Given the description of an element on the screen output the (x, y) to click on. 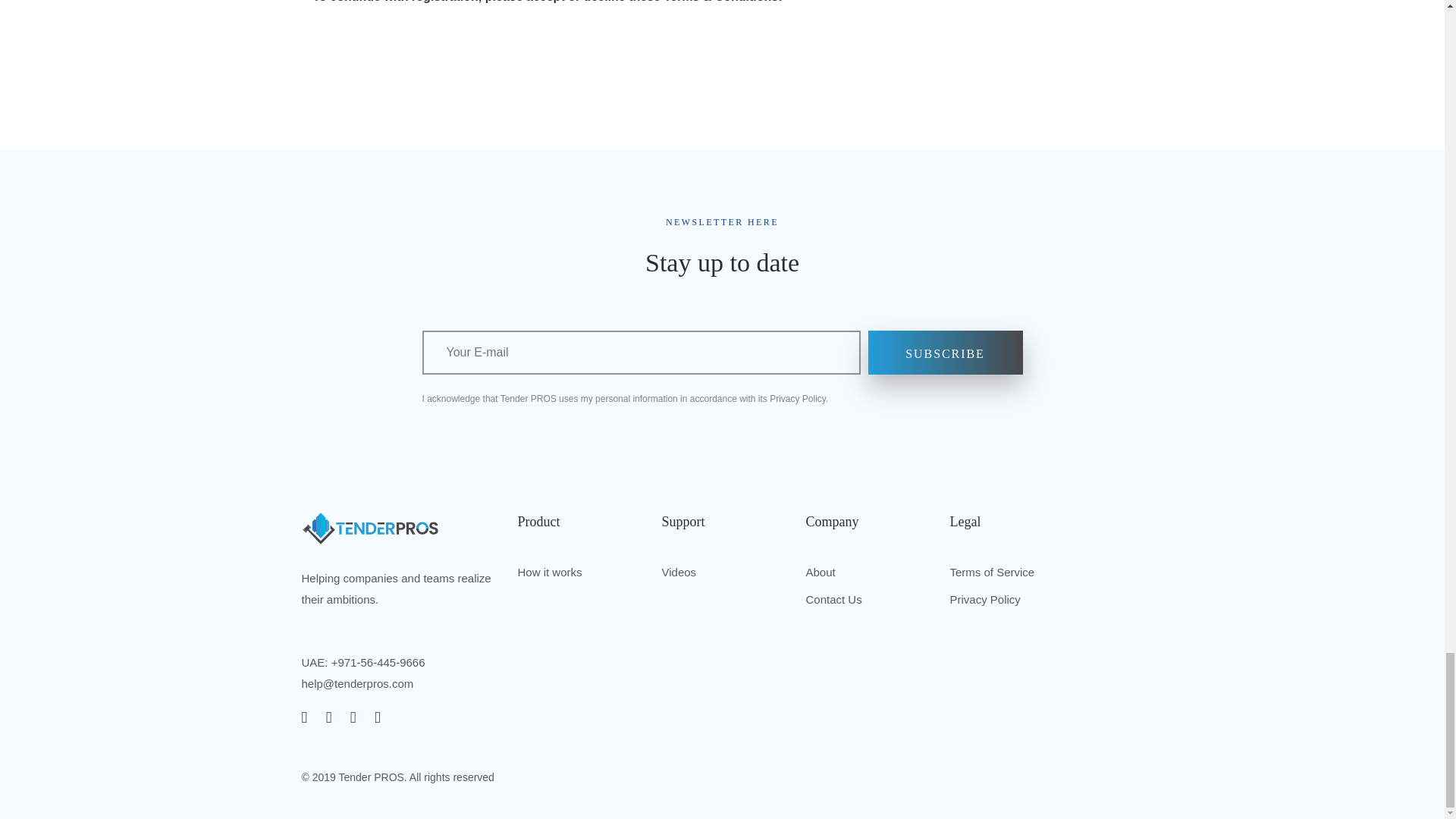
Videos (678, 571)
Terms of Service (991, 571)
Privacy Policy (984, 599)
How it works (548, 571)
SUBSCRIBE (944, 352)
About (819, 571)
Contact Us (833, 599)
